Given the description of an element on the screen output the (x, y) to click on. 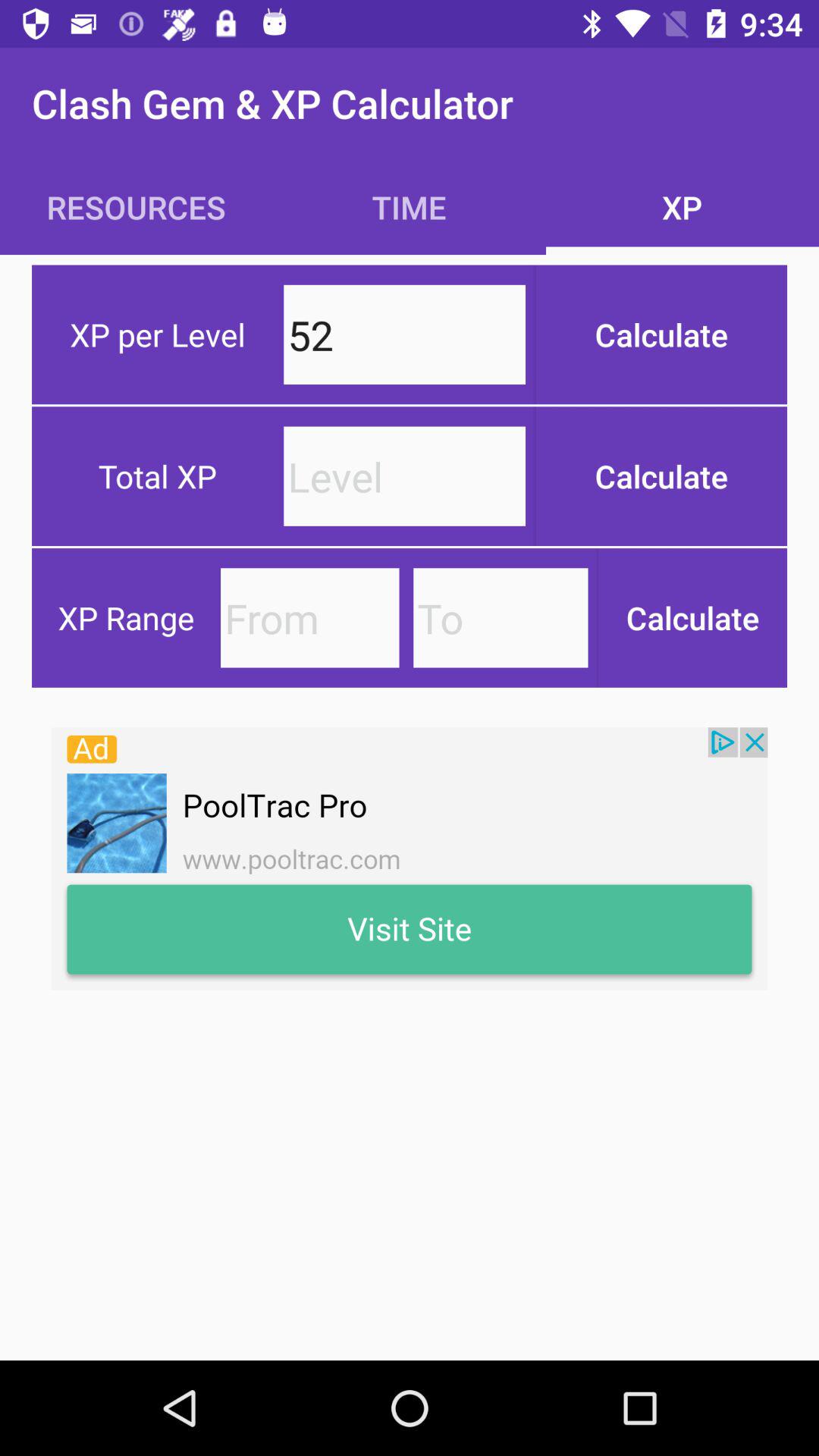
enter total xp value (404, 476)
